Given the description of an element on the screen output the (x, y) to click on. 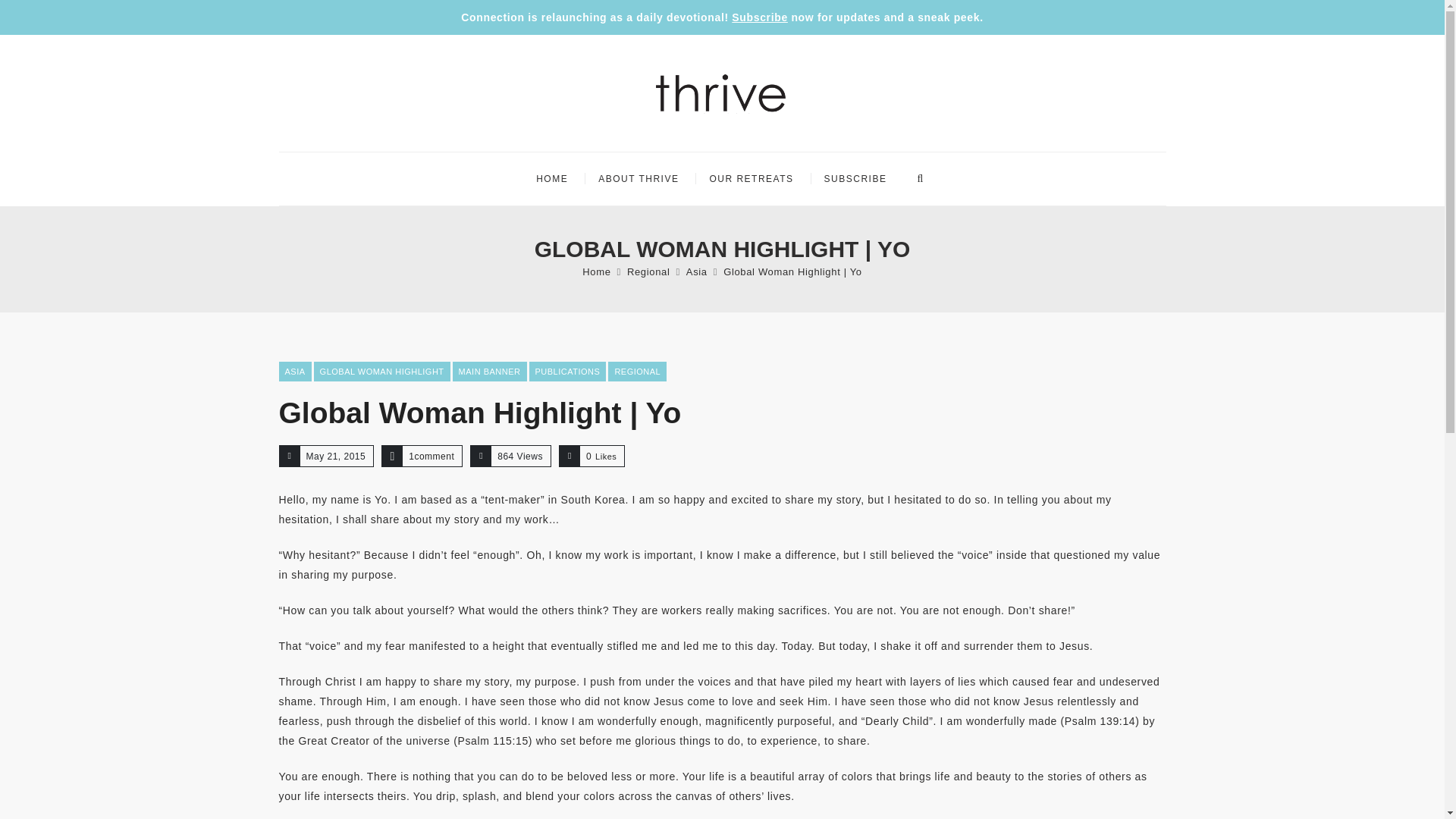
REGIONAL (637, 371)
Home (596, 271)
Asia (696, 271)
SUBSCRIBE (855, 178)
OUR RETREATS (751, 178)
Thrive Connection (721, 92)
GLOBAL WOMAN HIGHLIGHT (381, 371)
PUBLICATIONS (568, 371)
HOME (552, 178)
Go (906, 221)
ASIA (295, 371)
1comment (431, 456)
Regional (648, 271)
ABOUT THRIVE (638, 178)
Subscribe (759, 17)
